Given the description of an element on the screen output the (x, y) to click on. 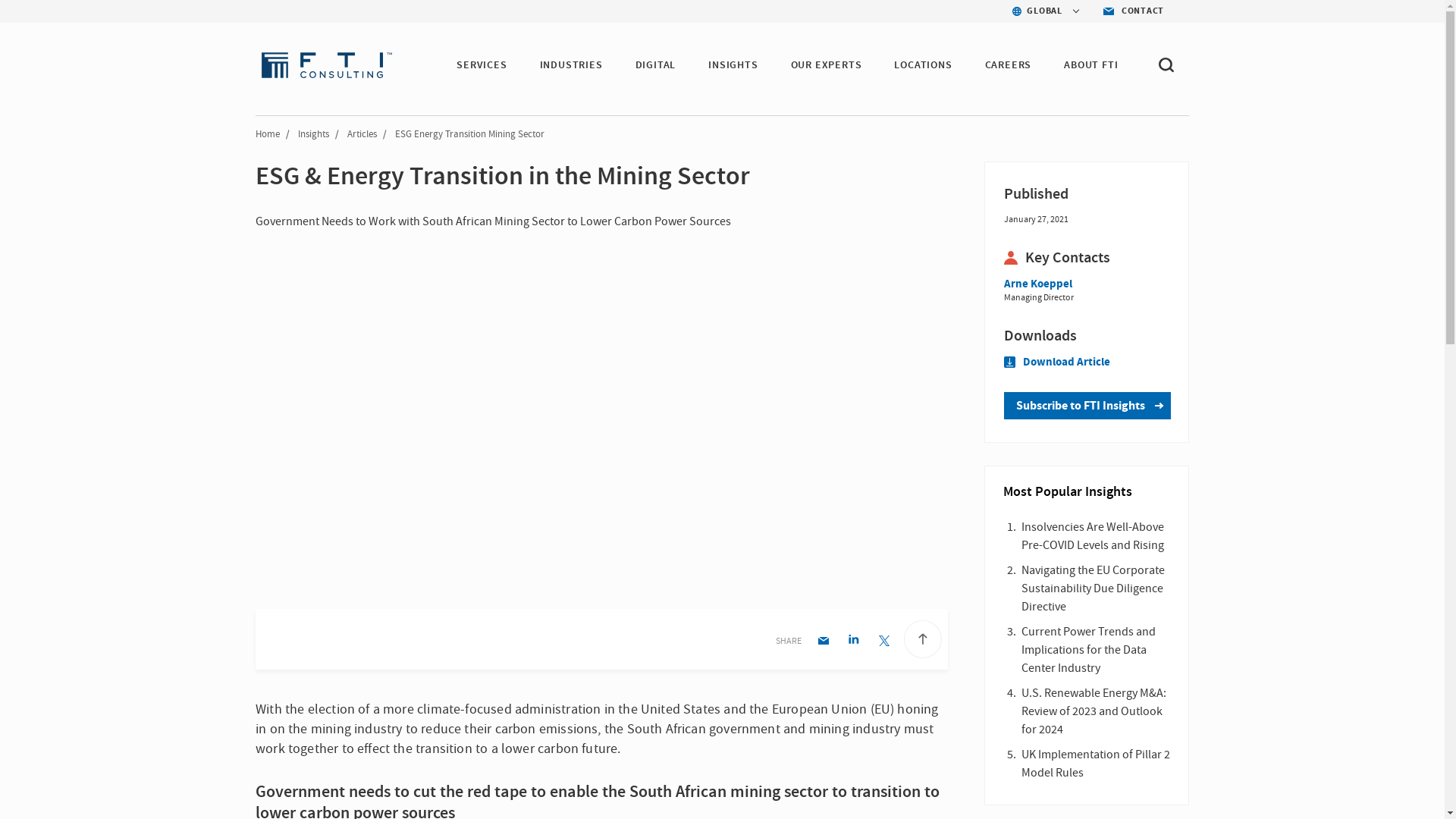
SERVICES (481, 65)
Download Article (1056, 361)
Email (823, 641)
Key Contacts (1086, 257)
CONTACT (1129, 11)
INDUSTRIES (571, 65)
Twitter (883, 641)
Date (1086, 194)
LinkedIn (853, 641)
Download (1086, 334)
